Given the description of an element on the screen output the (x, y) to click on. 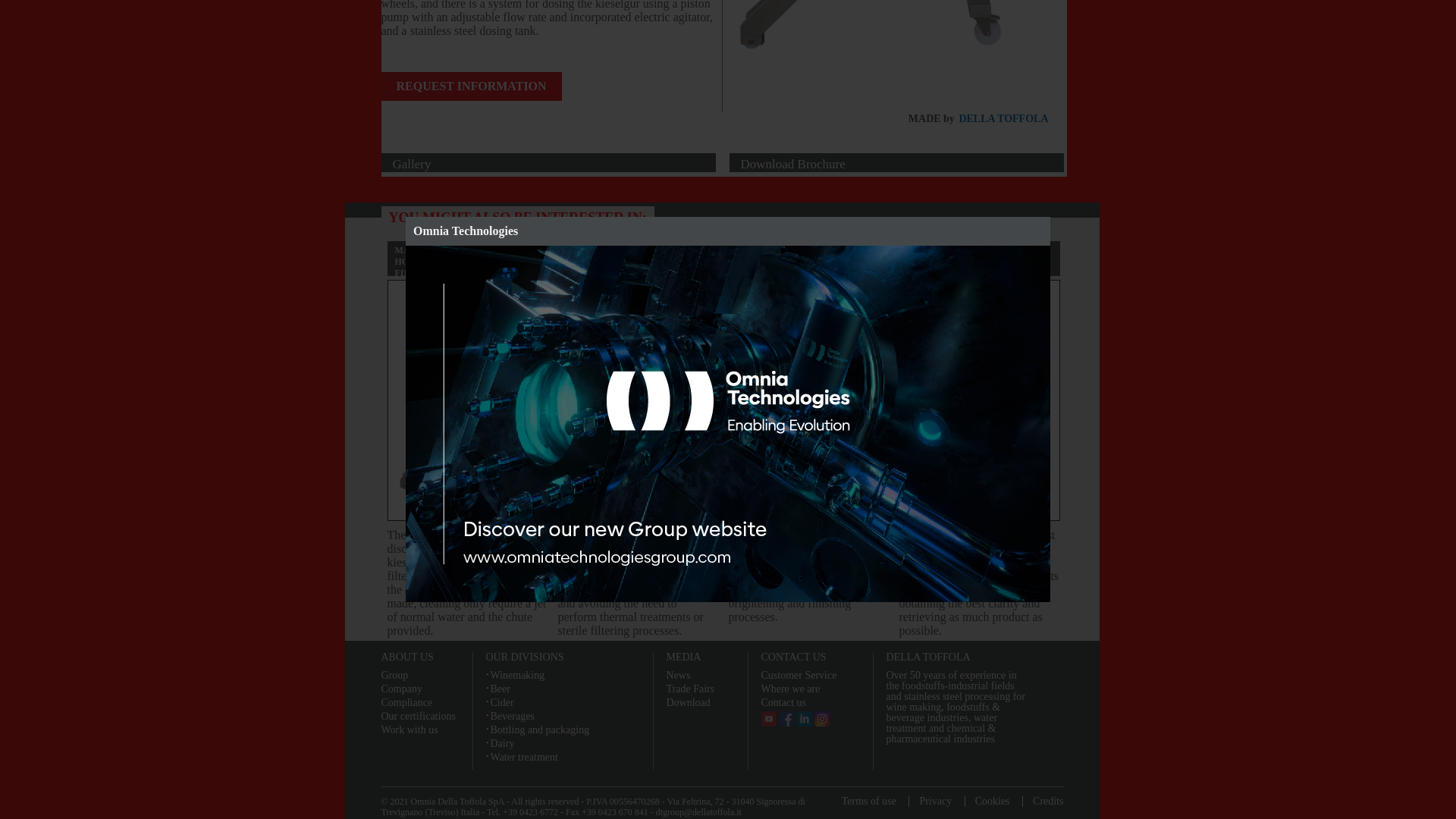
Manually discharged horizontal disk kieselgur filters (899, 52)
